Given the description of an element on the screen output the (x, y) to click on. 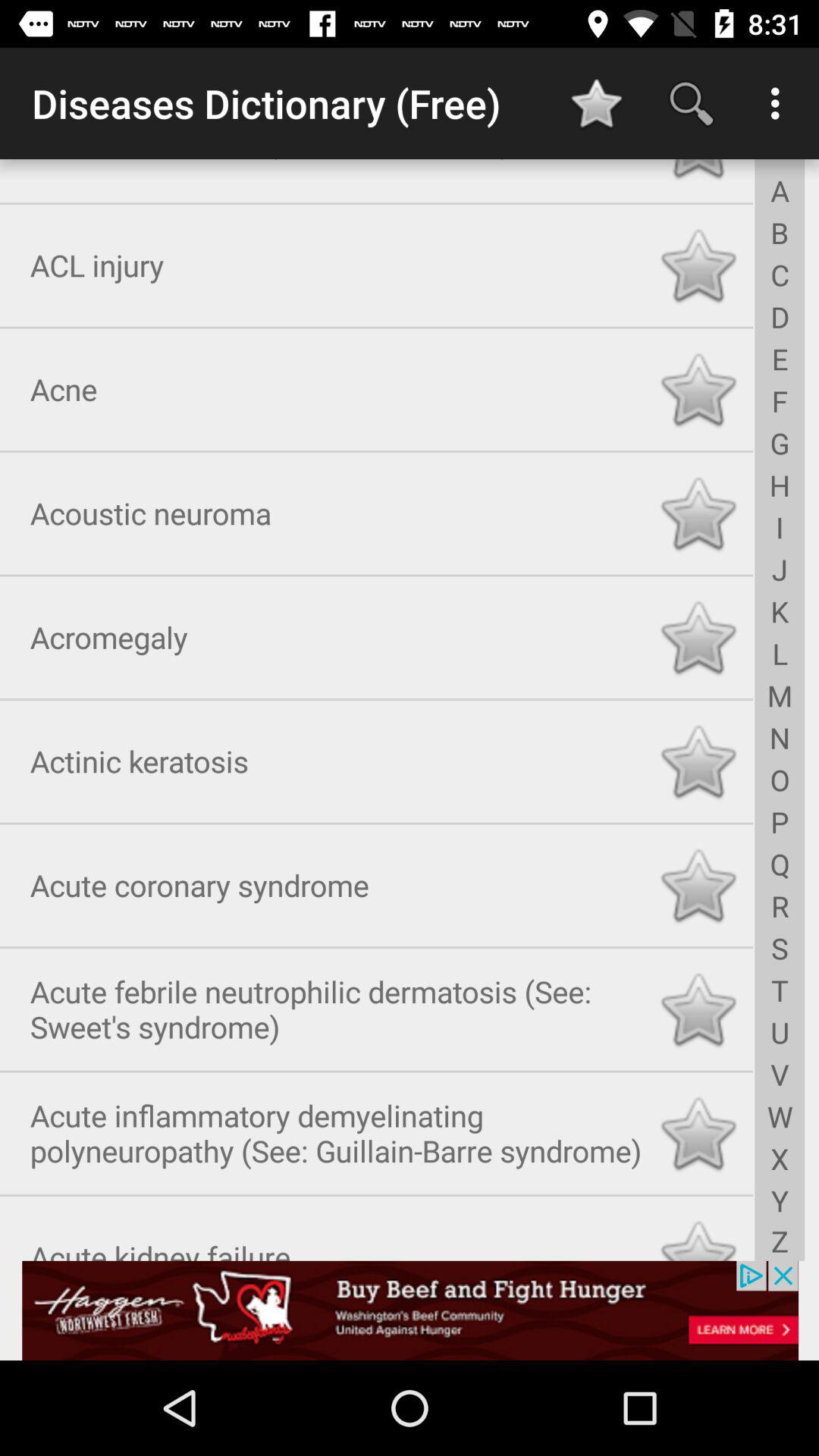
click star to favorite (697, 1006)
